Given the description of an element on the screen output the (x, y) to click on. 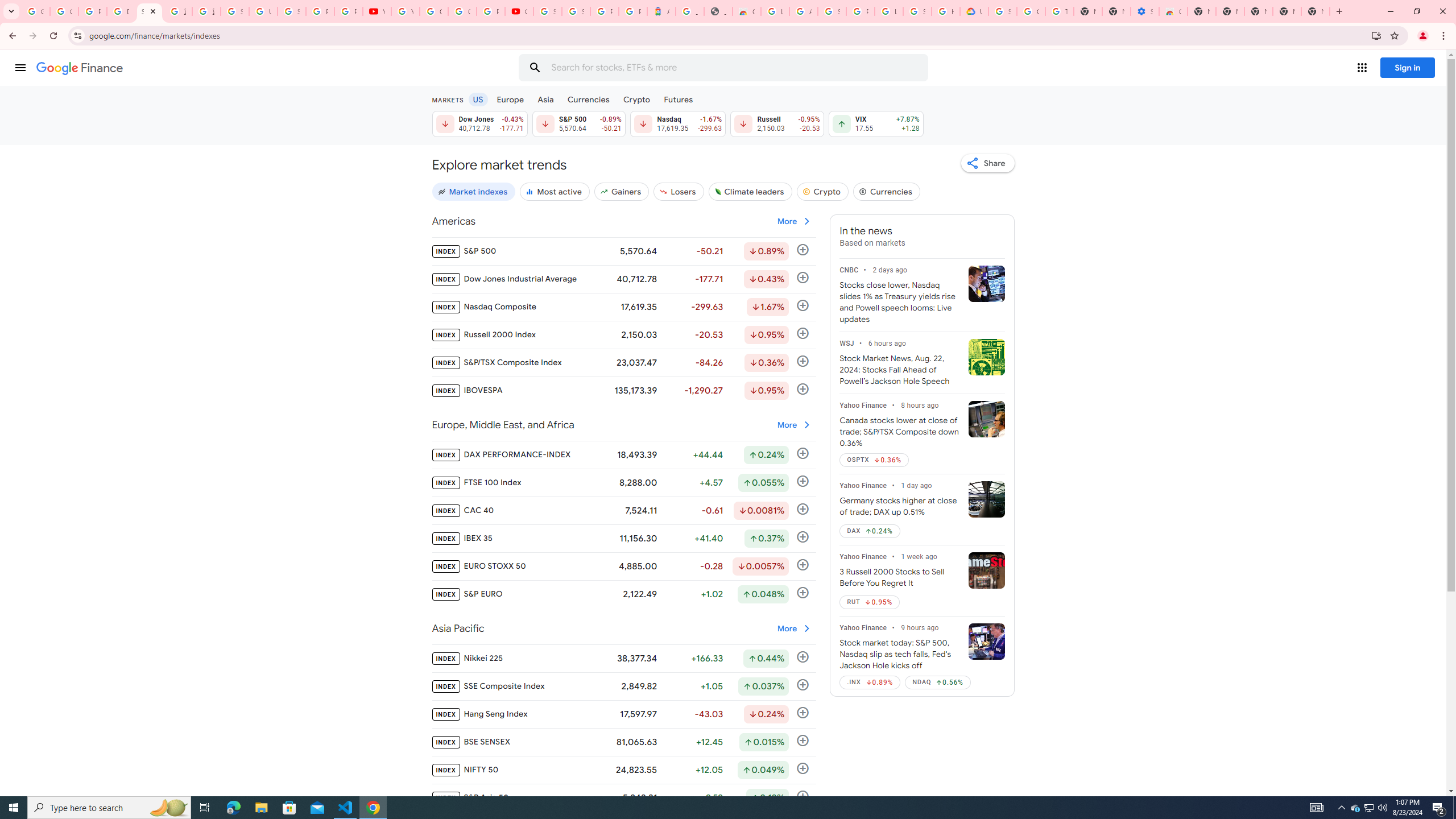
Create your Google Account (461, 11)
Finance (79, 68)
INDEX S&P EURO 2,122.49 +1.02 Up by 0.048% Follow (623, 594)
INDEX BSE SENSEX 81,065.63 +12.45 Up by 0.017% Follow (623, 741)
INDEX Nikkei 225 38,377.34 +166.33 Up by 0.44% Follow (623, 658)
Settings - Accessibility (1144, 11)
INDEX SSE Composite Index 2,849.82 +1.05 Up by 0.053% Follow (623, 686)
Search for stocks, ETFs & more (724, 67)
Russell 2,150.03 Down by 0.95% -20.53 (777, 123)
Sign in - Google Accounts (917, 11)
